Given the description of an element on the screen output the (x, y) to click on. 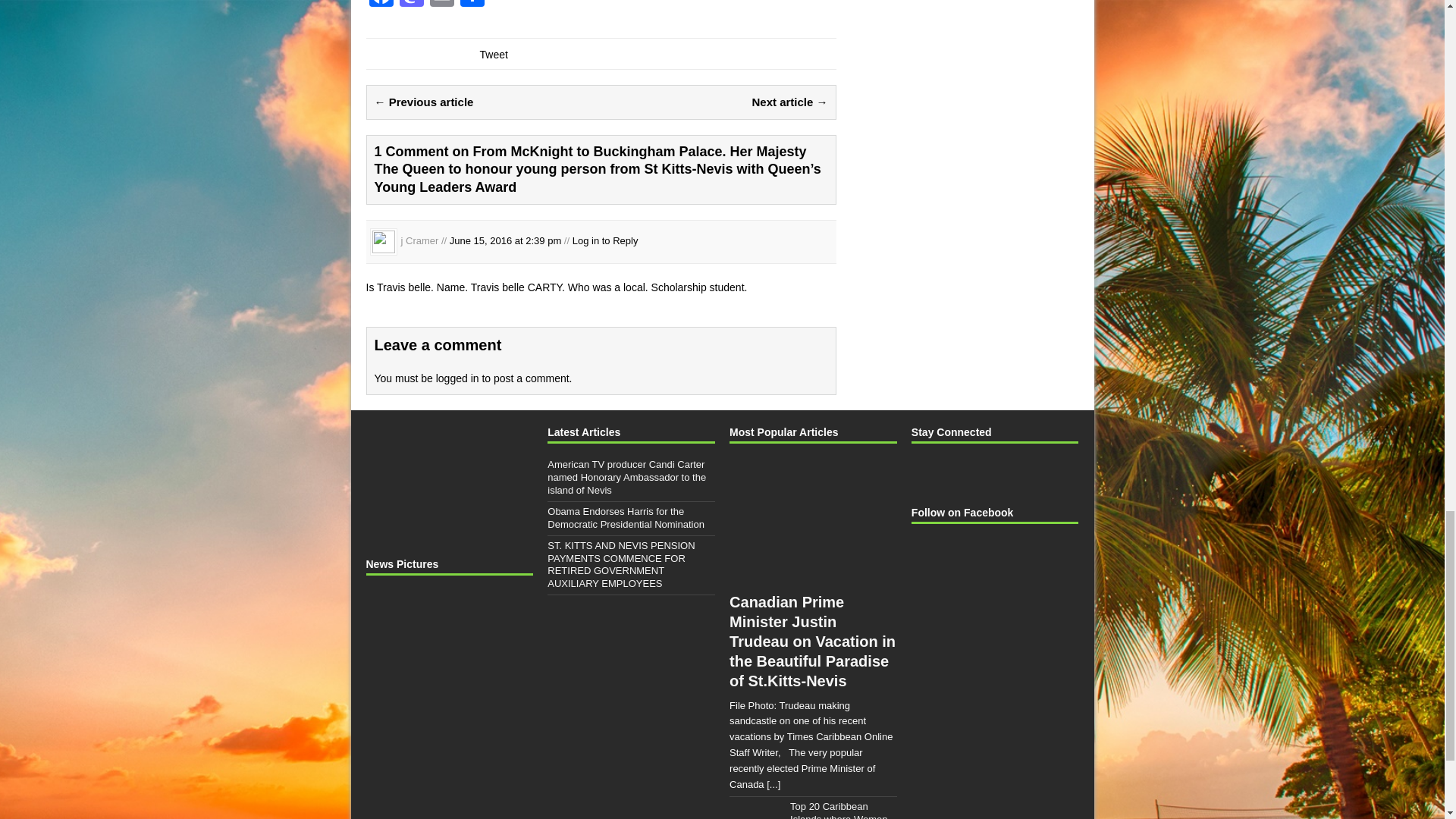
CUBA AMAZES WITH FOUR VACCINE POSSIBILITIES (502, 622)
Mastodon (411, 5)
Facebook (380, 5)
Email (441, 5)
